Given the description of an element on the screen output the (x, y) to click on. 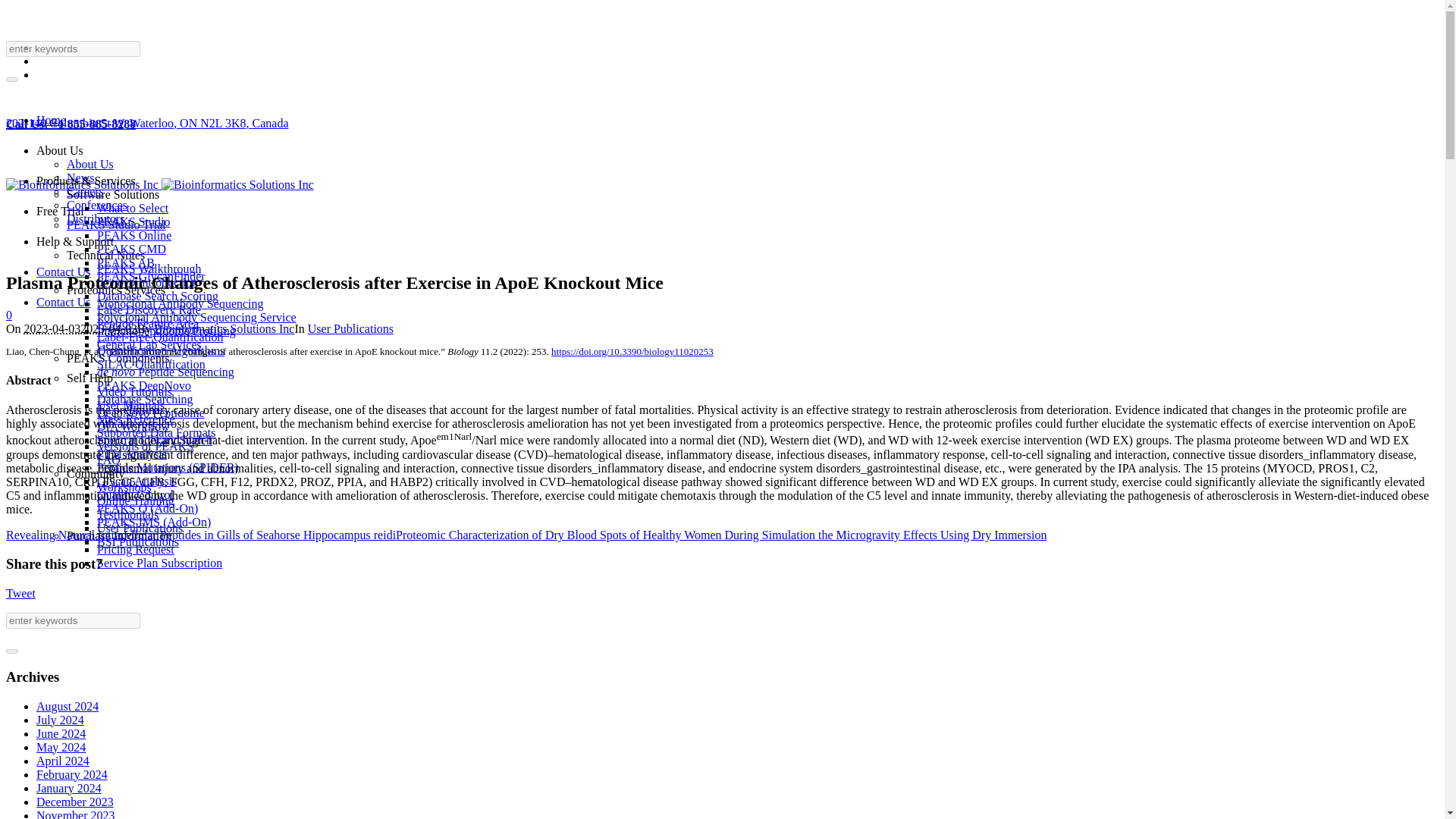
Proteomics Services (115, 289)
2023-04-03 (52, 328)
About Us (89, 164)
Glycan Analysis (136, 481)
News (80, 177)
Careers (84, 191)
PEAKS Online (134, 235)
What to Select (132, 207)
DIA Workflow (133, 426)
Bioinformatics Solutions Inc (159, 184)
